Given the description of an element on the screen output the (x, y) to click on. 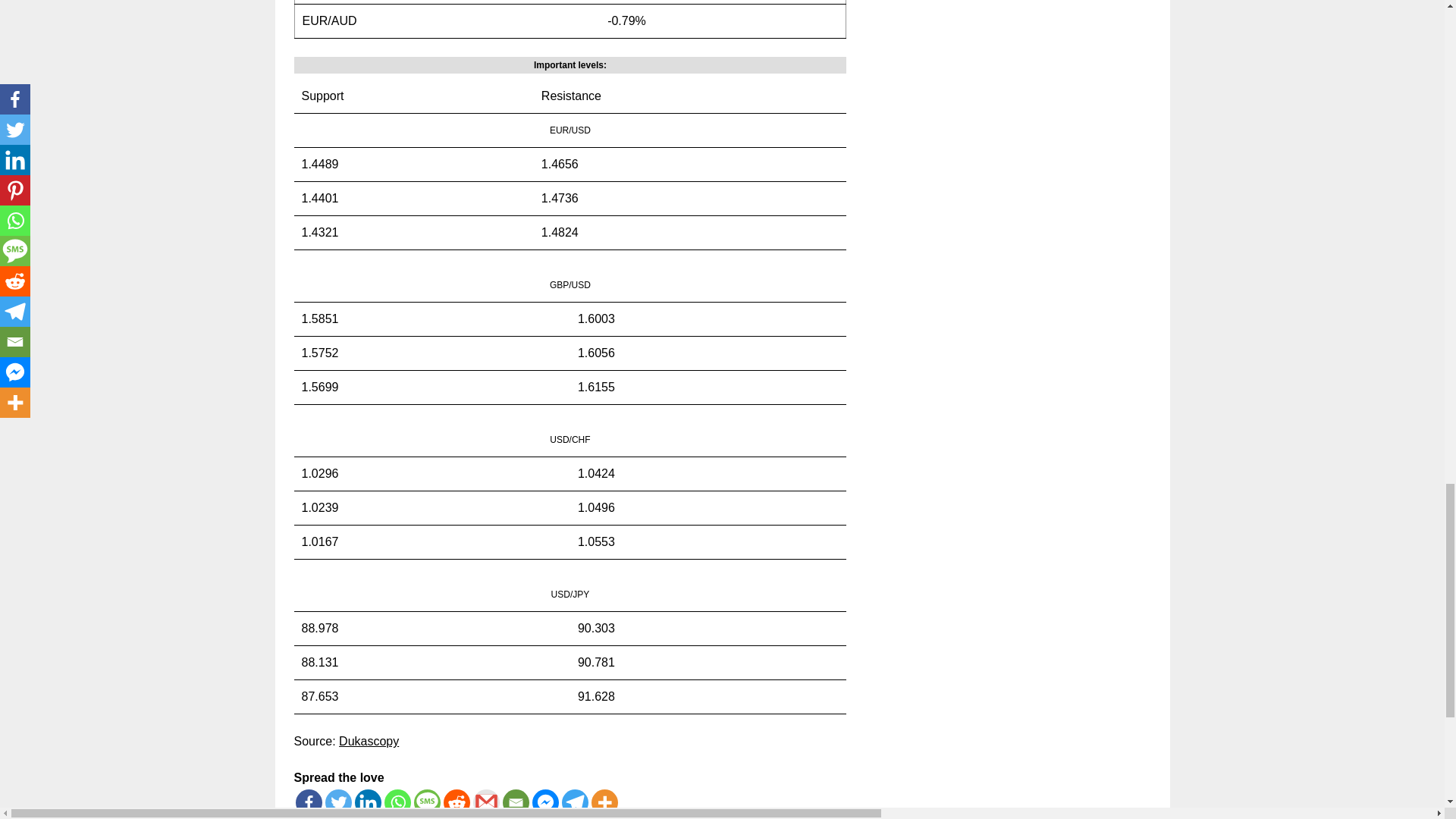
Email (515, 802)
Whatsapp (397, 802)
SMS (427, 802)
Reddit (455, 802)
Google Gmail (486, 802)
Facebook (308, 802)
More (604, 802)
Telegram (574, 802)
Dukascopy (368, 740)
Linkedin (368, 802)
